Given the description of an element on the screen output the (x, y) to click on. 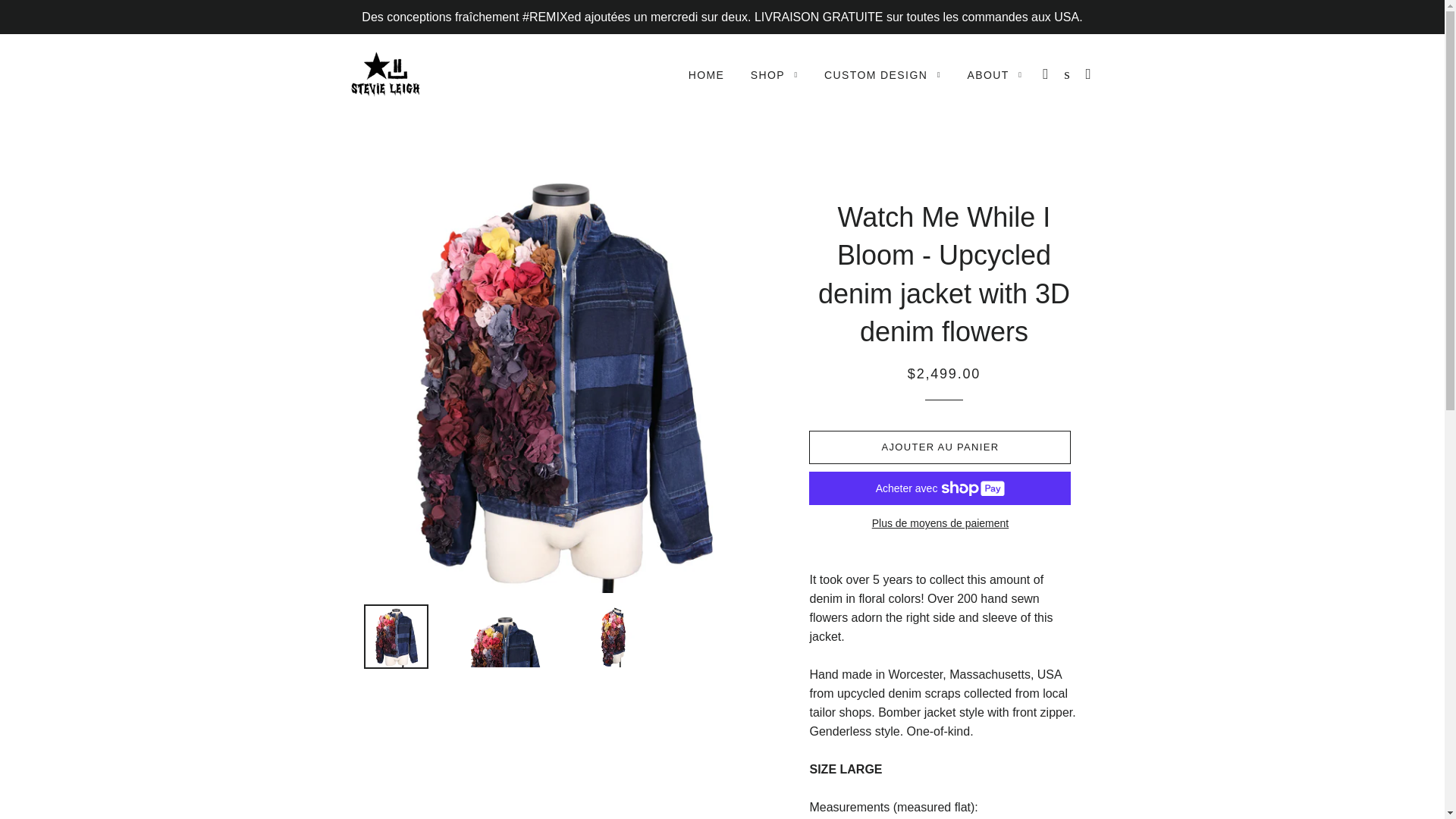
SHOP (774, 75)
HOME (706, 75)
